Given the description of an element on the screen output the (x, y) to click on. 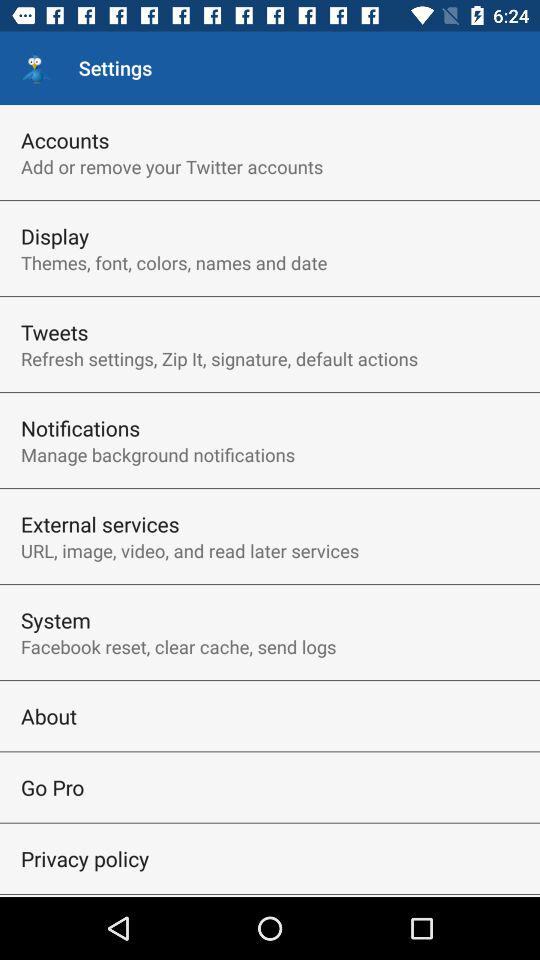
turn on item below url image video (55, 620)
